Given the description of an element on the screen output the (x, y) to click on. 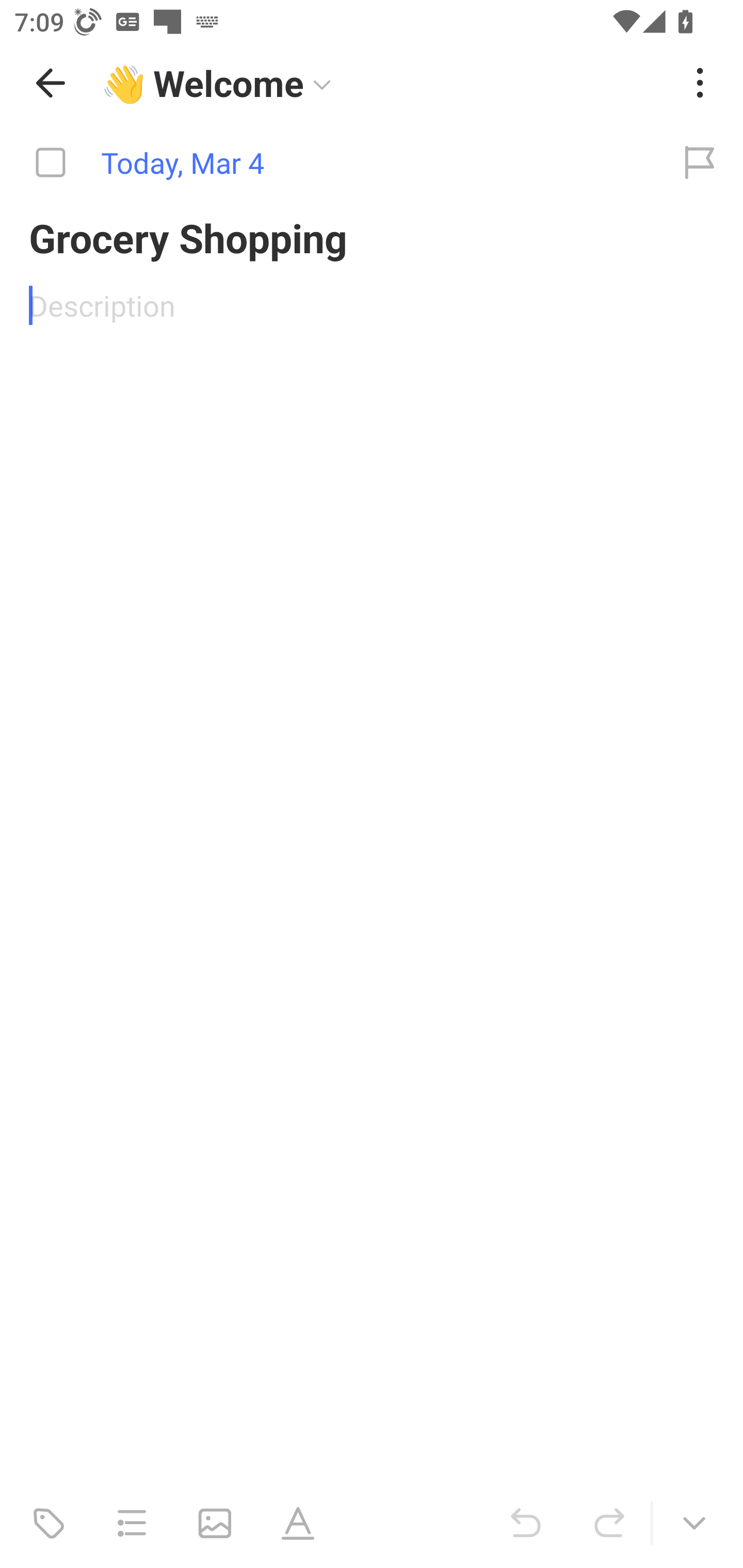
👋 Welcome (384, 82)
Today, Mar 4  (328, 163)
Grocery Shopping (371, 237)
Description (371, 304)
